Given the description of an element on the screen output the (x, y) to click on. 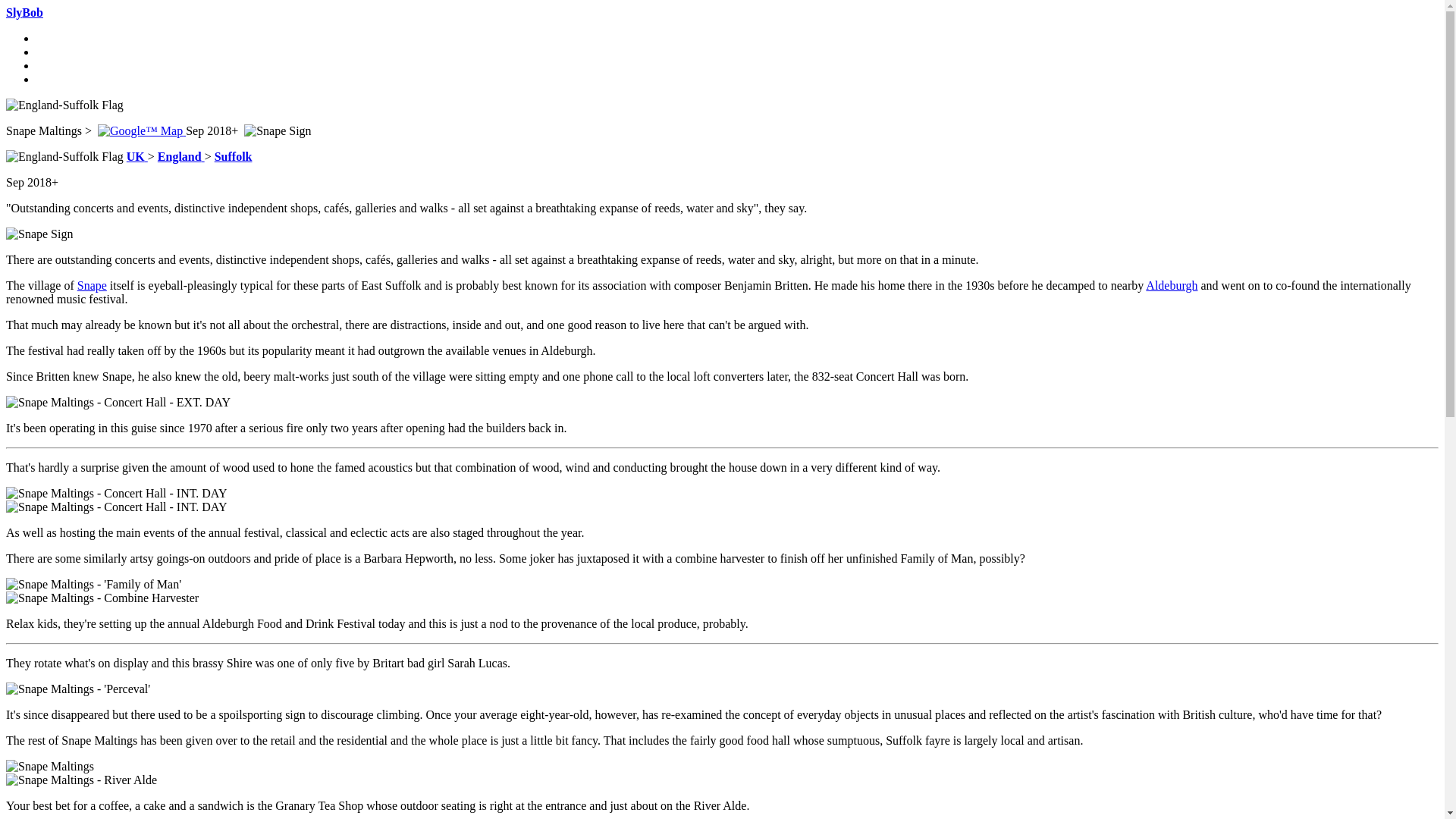
Snape Maltings - River Alde (81, 780)
Snape Maltings - 'Family of Man' (92, 584)
Snape Maltings - 'Perceval' (77, 689)
England (181, 155)
SlyBob (24, 11)
England-Suffolk Flag (64, 156)
Snape Maltings - Concert Hall - INT. DAY (116, 507)
Snape Maltings - Concert Hall - EXT. DAY (117, 402)
Snape Maltings (49, 766)
Snape Maltings - Concert Hall - INT. DAY (116, 493)
